Given the description of an element on the screen output the (x, y) to click on. 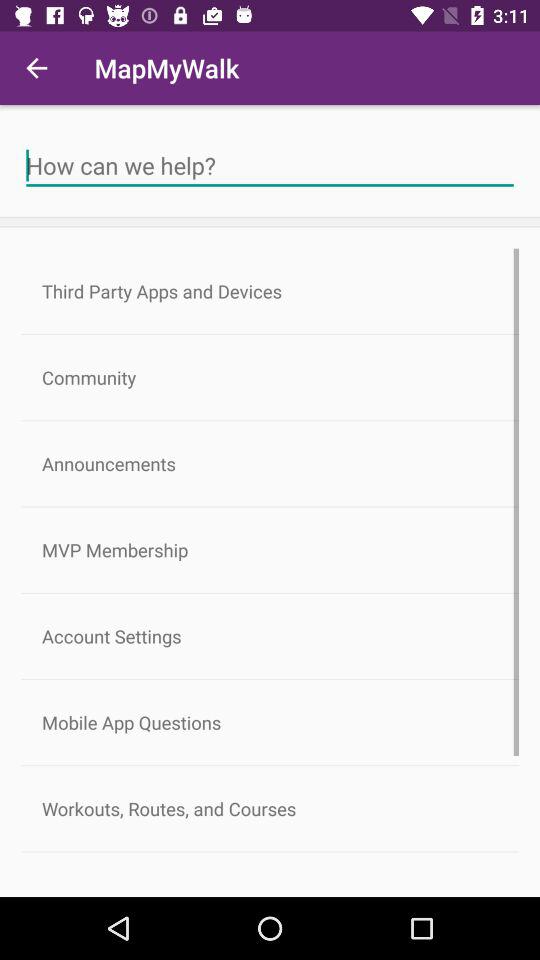
search for a help article (270, 165)
